Given the description of an element on the screen output the (x, y) to click on. 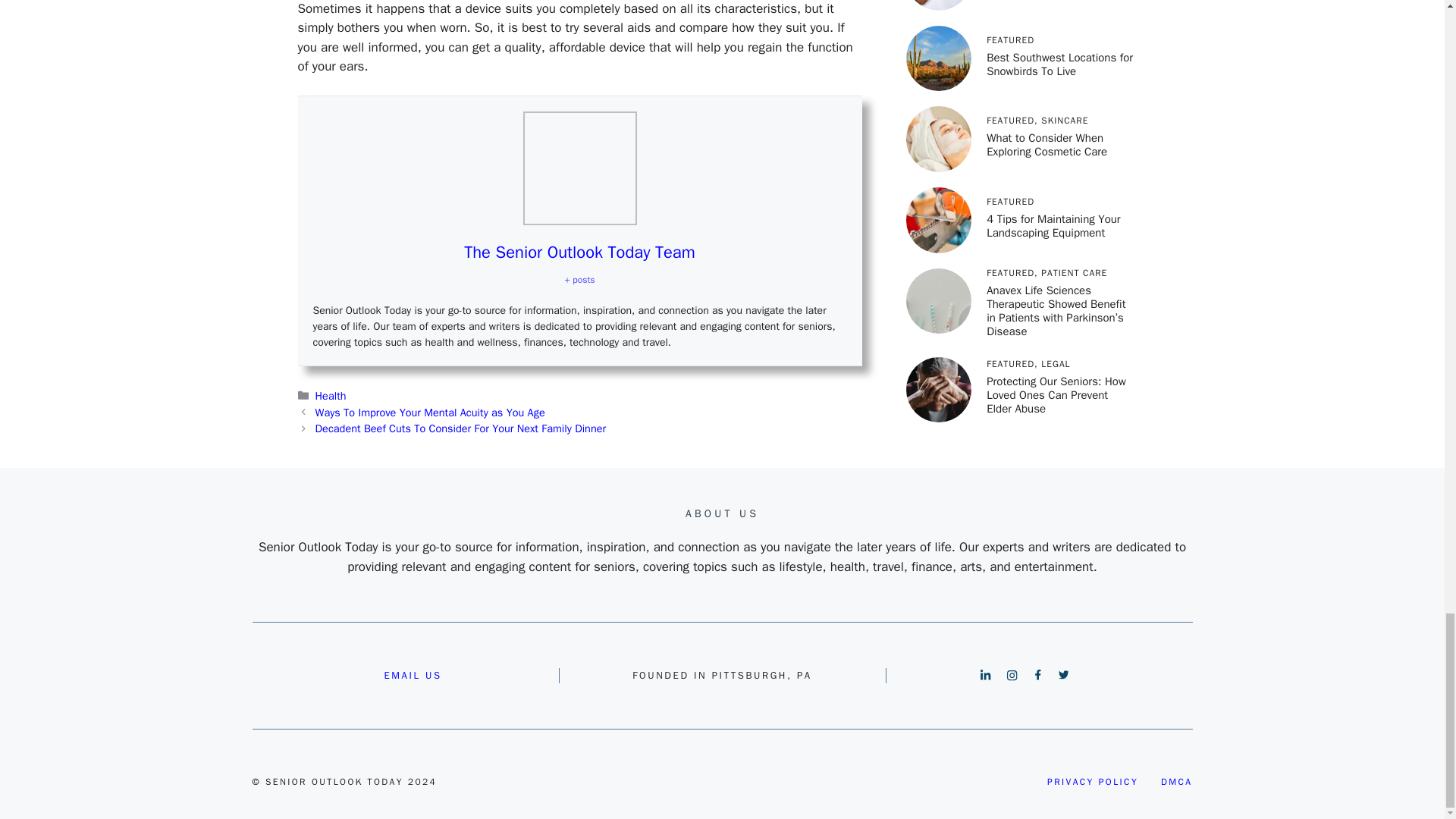
Ways To Improve Your Mental Acuity as You Age (429, 412)
Tips on Choosing Hearing Aid for Your Needs 5 (579, 168)
Health (330, 395)
The Senior Outlook Today Team (579, 251)
Decadent Beef Cuts To Consider For Your Next Family Dinner (460, 427)
